Given the description of an element on the screen output the (x, y) to click on. 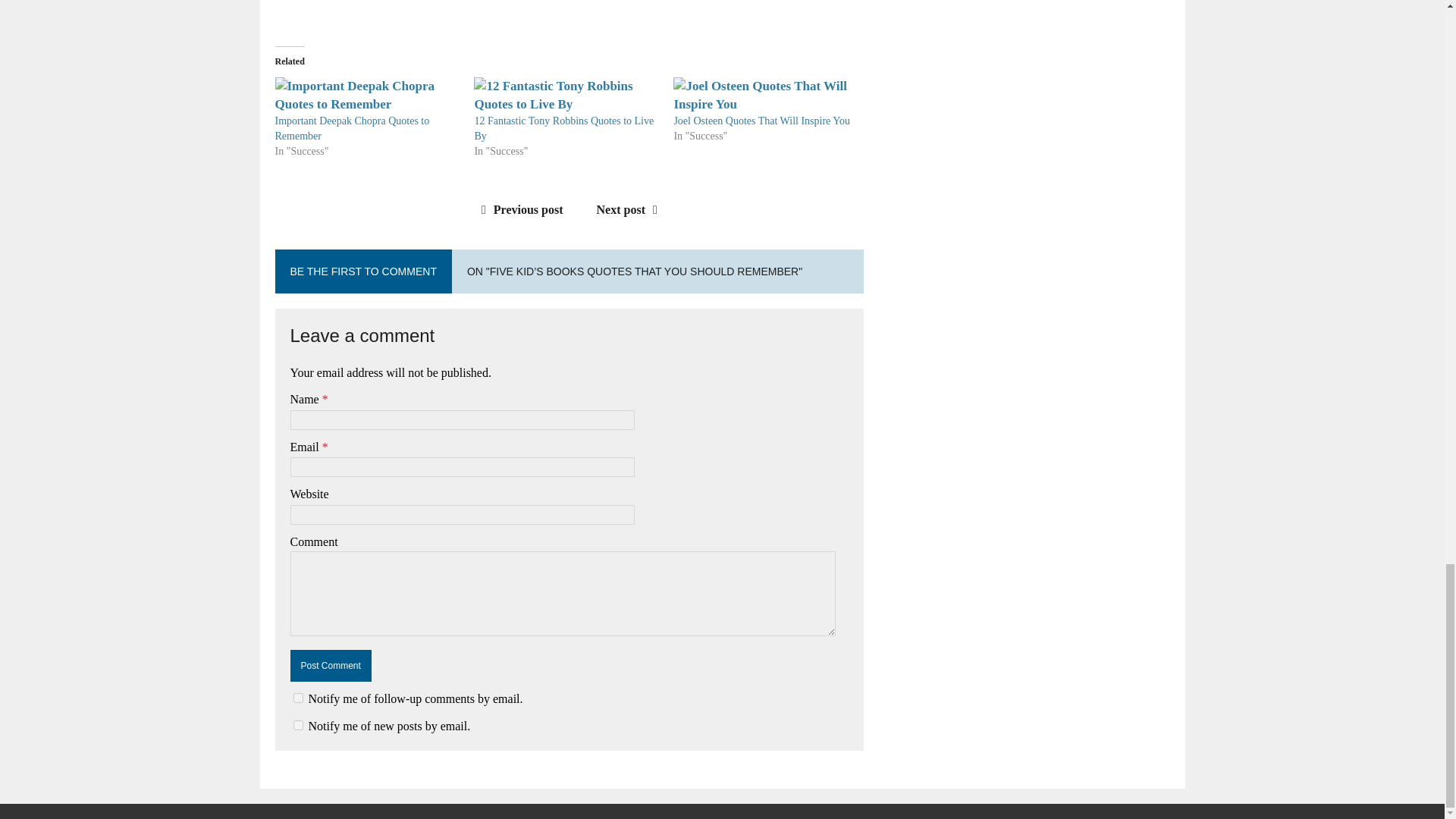
Share it on Email (451, 7)
Share on LinkedIn (412, 7)
subscribe (297, 725)
Share on Google Plus (373, 7)
12 Fantastic Tony Robbins Quotes to Live By (563, 128)
Post Comment (330, 665)
Important Deepak Chopra Quotes to Remember (352, 128)
Previous post (518, 209)
subscribe (297, 697)
Share on Twitter (333, 7)
Joel Osteen Quotes That Will Inspire You (761, 120)
Next post (630, 209)
Share on Facebook (294, 7)
